Given the description of an element on the screen output the (x, y) to click on. 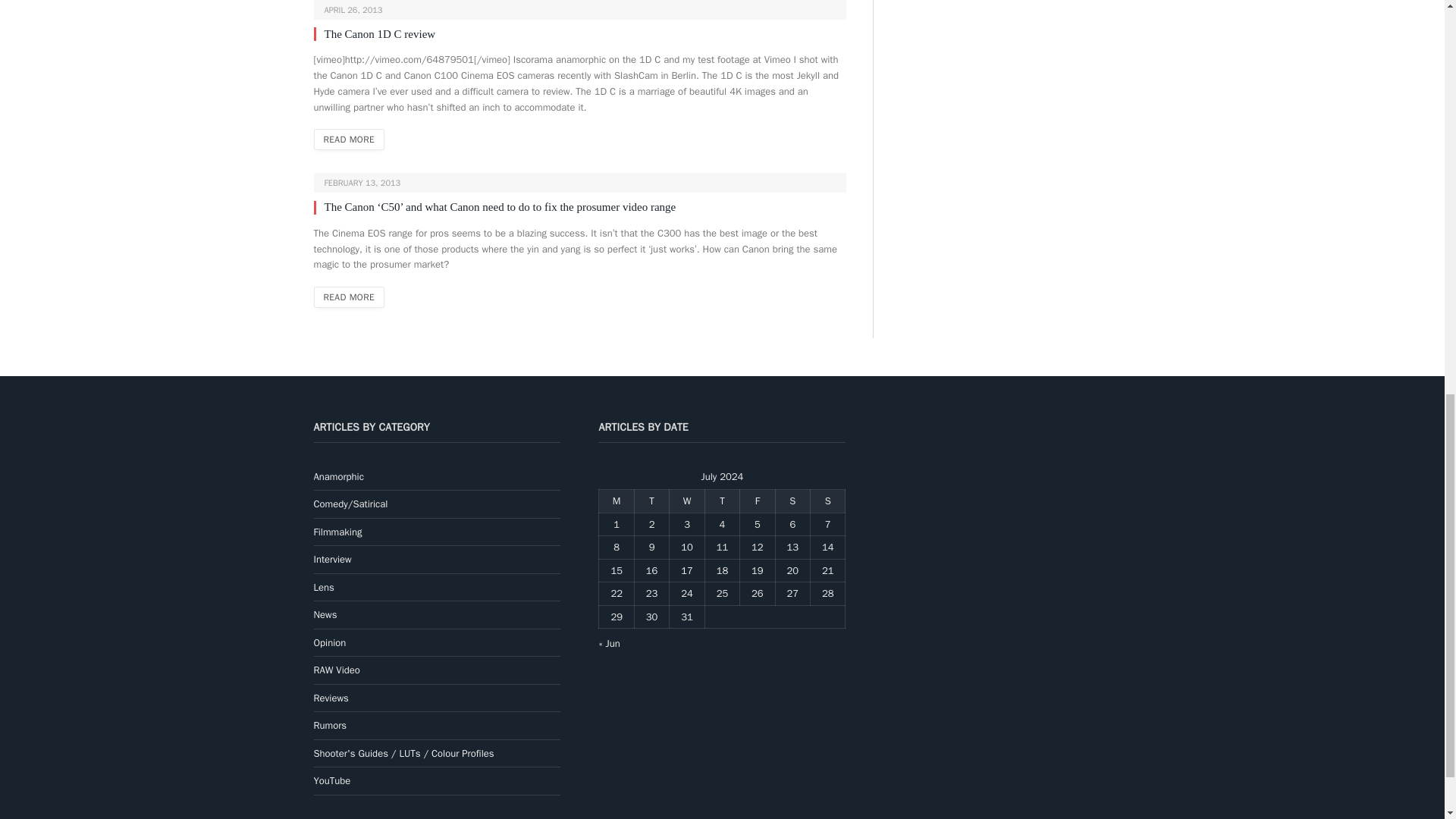
Thursday (721, 501)
Friday (756, 501)
Tuesday (650, 501)
Sunday (827, 501)
Monday (615, 501)
Saturday (791, 501)
Wednesday (686, 501)
